Given the description of an element on the screen output the (x, y) to click on. 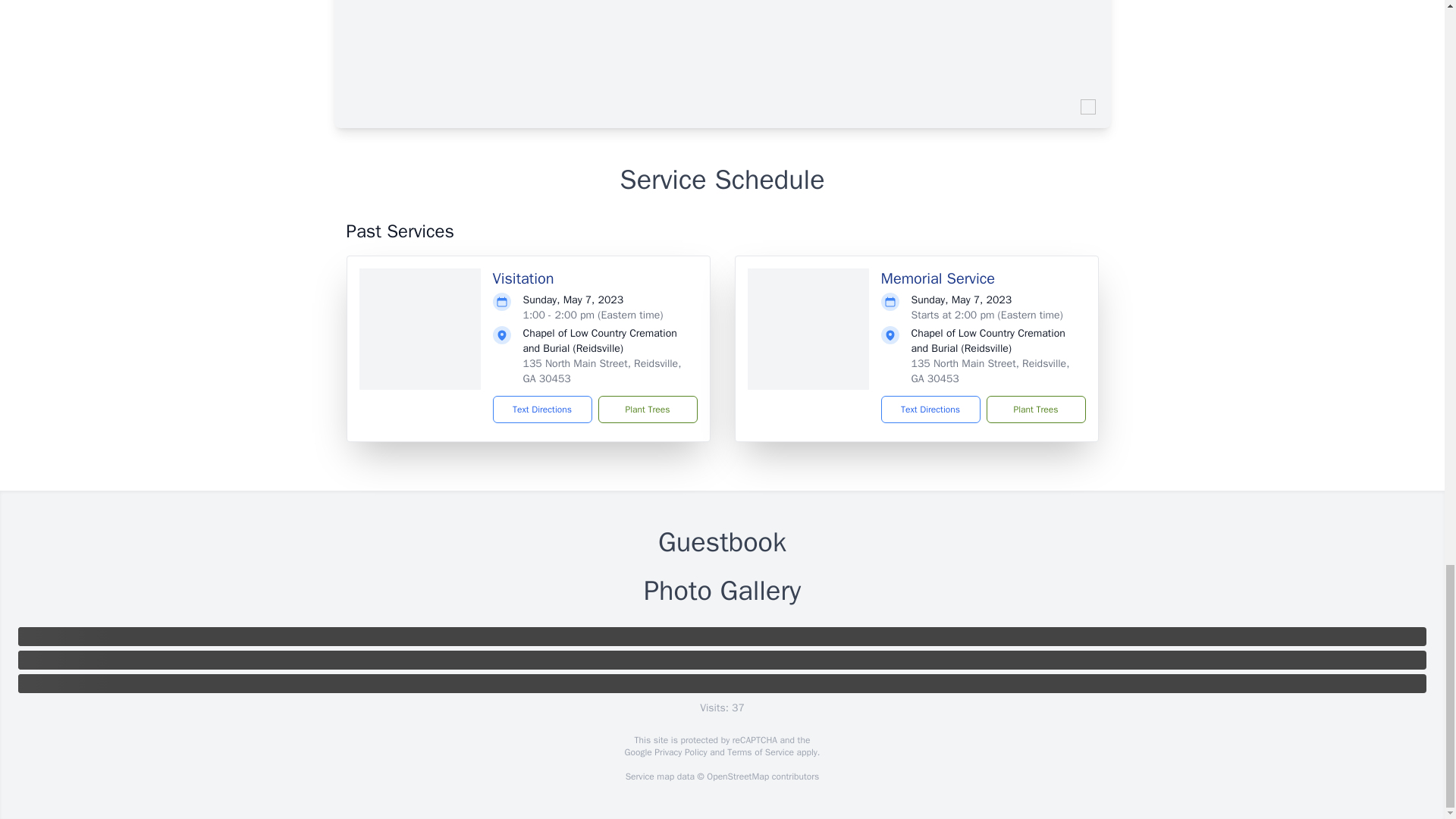
135 North Main Street, Reidsville, GA 30453 (990, 370)
Text Directions (542, 409)
Plant Trees (646, 409)
Terms of Service (759, 752)
OpenStreetMap (737, 776)
Text Directions (929, 409)
135 North Main Street, Reidsville, GA 30453 (601, 370)
Plant Trees (1034, 409)
Privacy Policy (679, 752)
